Given the description of an element on the screen output the (x, y) to click on. 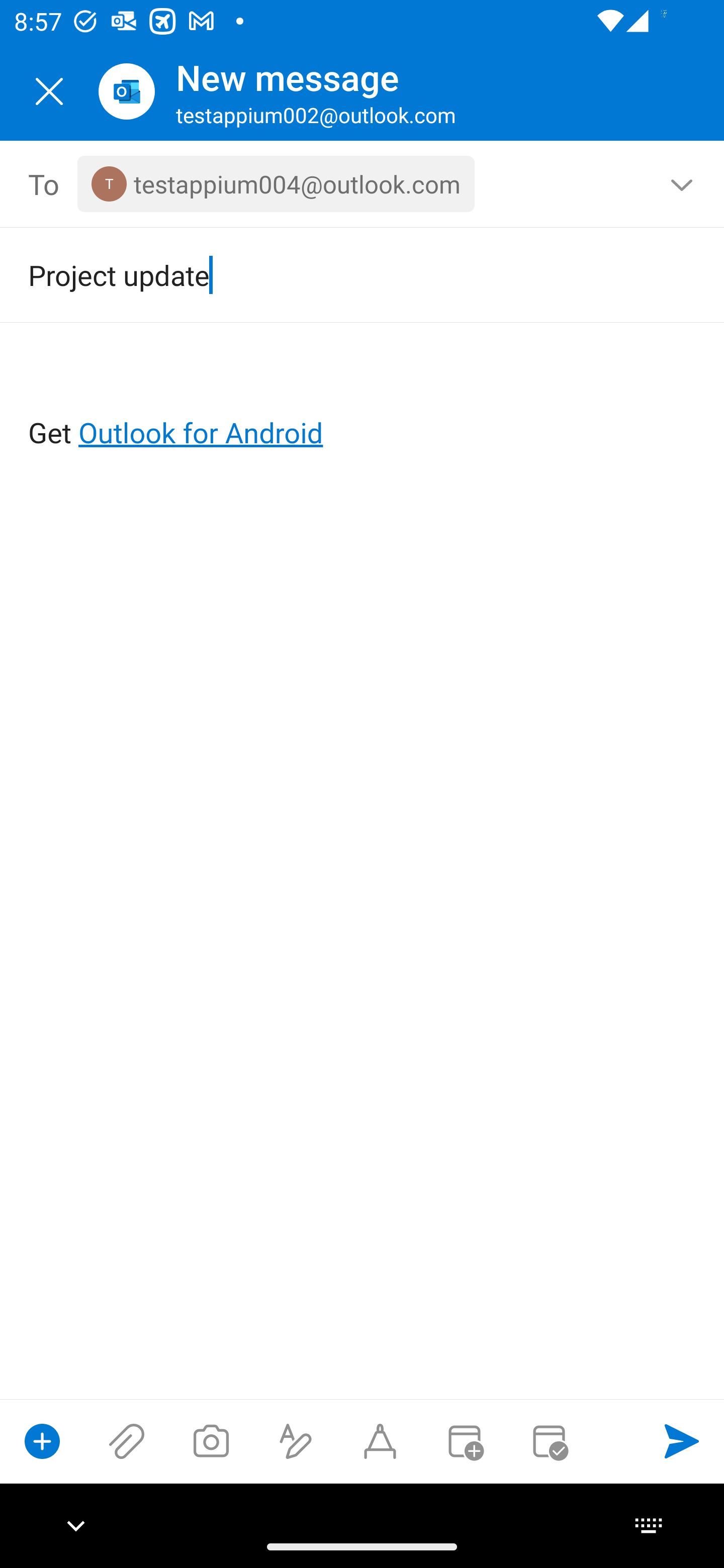
Close (49, 91)
To, 1 recipient <testappium004@outlook.com> (362, 184)
Project update (333, 274)


Get Outlook for Android (363, 400)
Show compose options (42, 1440)
Attach files (126, 1440)
Take a photo (210, 1440)
Show formatting options (295, 1440)
Start Ink compose (380, 1440)
Convert to event (464, 1440)
Send availability (548, 1440)
Send (681, 1440)
